Given the description of an element on the screen output the (x, y) to click on. 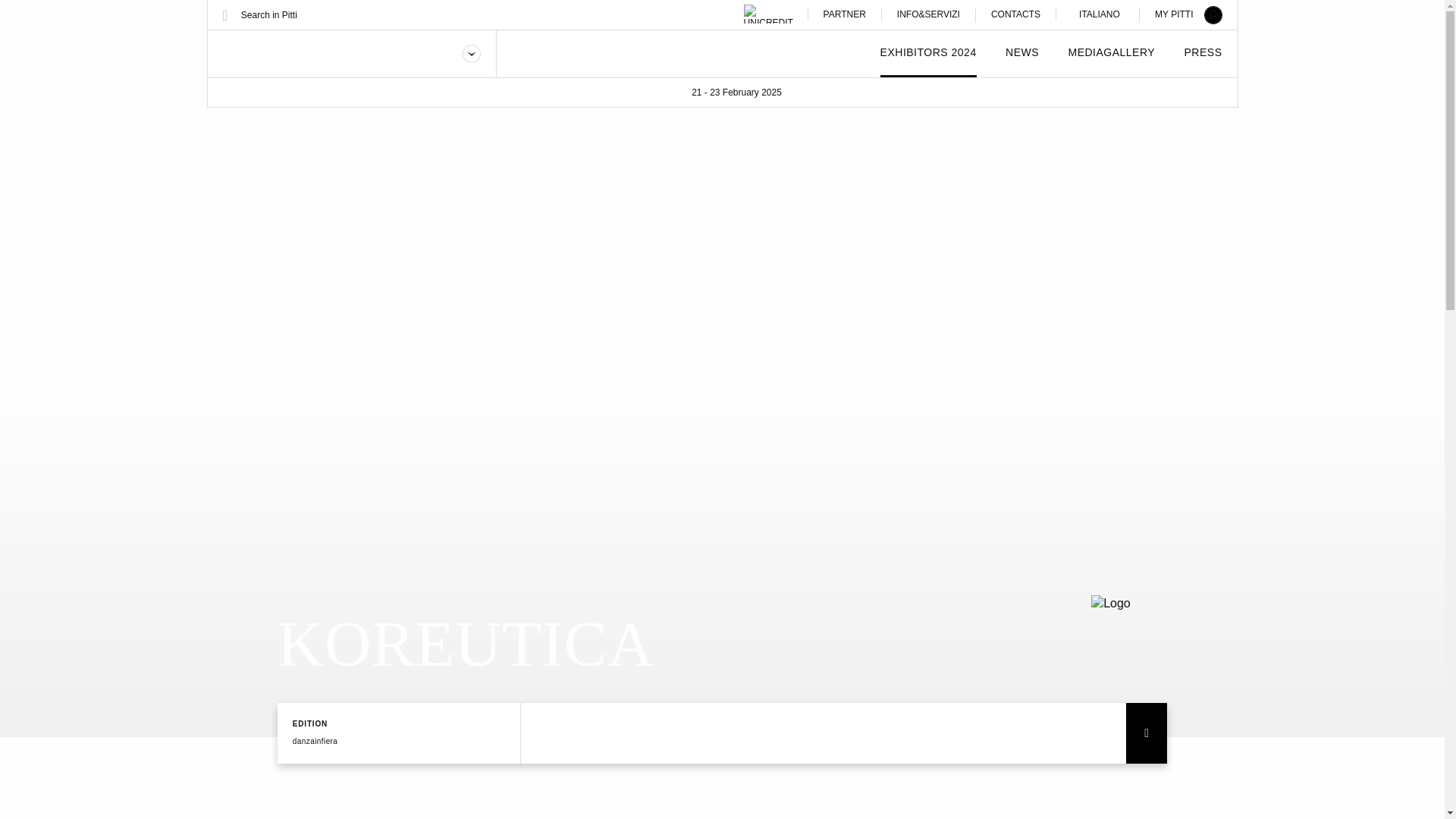
KOREUTICA (1128, 632)
PARTNER (853, 14)
